Given the description of an element on the screen output the (x, y) to click on. 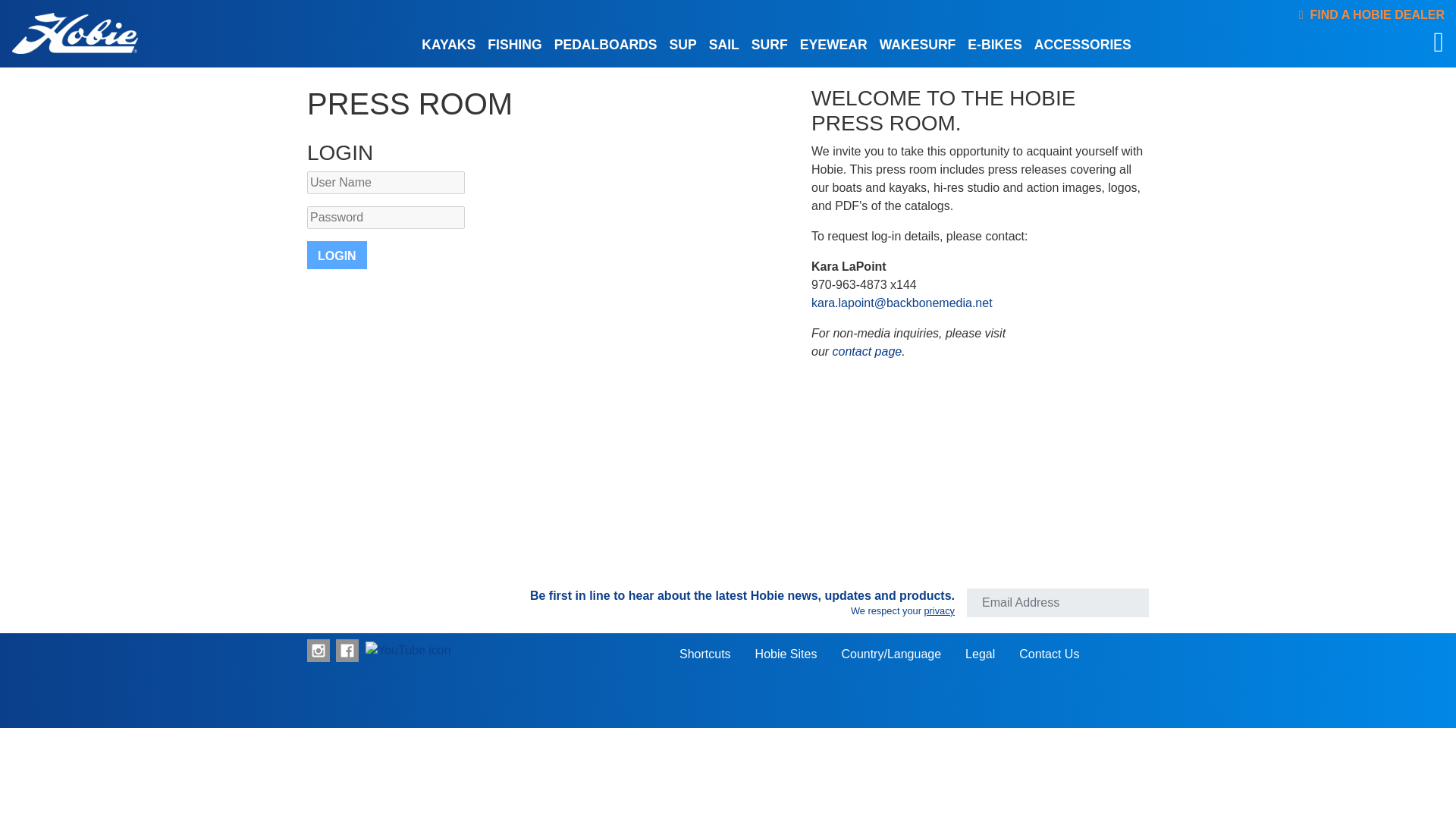
SUP (683, 42)
WAKESURF (917, 42)
KAYAKS (447, 42)
EYEWEAR (833, 42)
FISHING (514, 42)
SURF (769, 42)
E-BIKES (993, 42)
ACCESSORIES (1082, 42)
SAIL (724, 42)
PEDALBOARDS (605, 42)
